Given the description of an element on the screen output the (x, y) to click on. 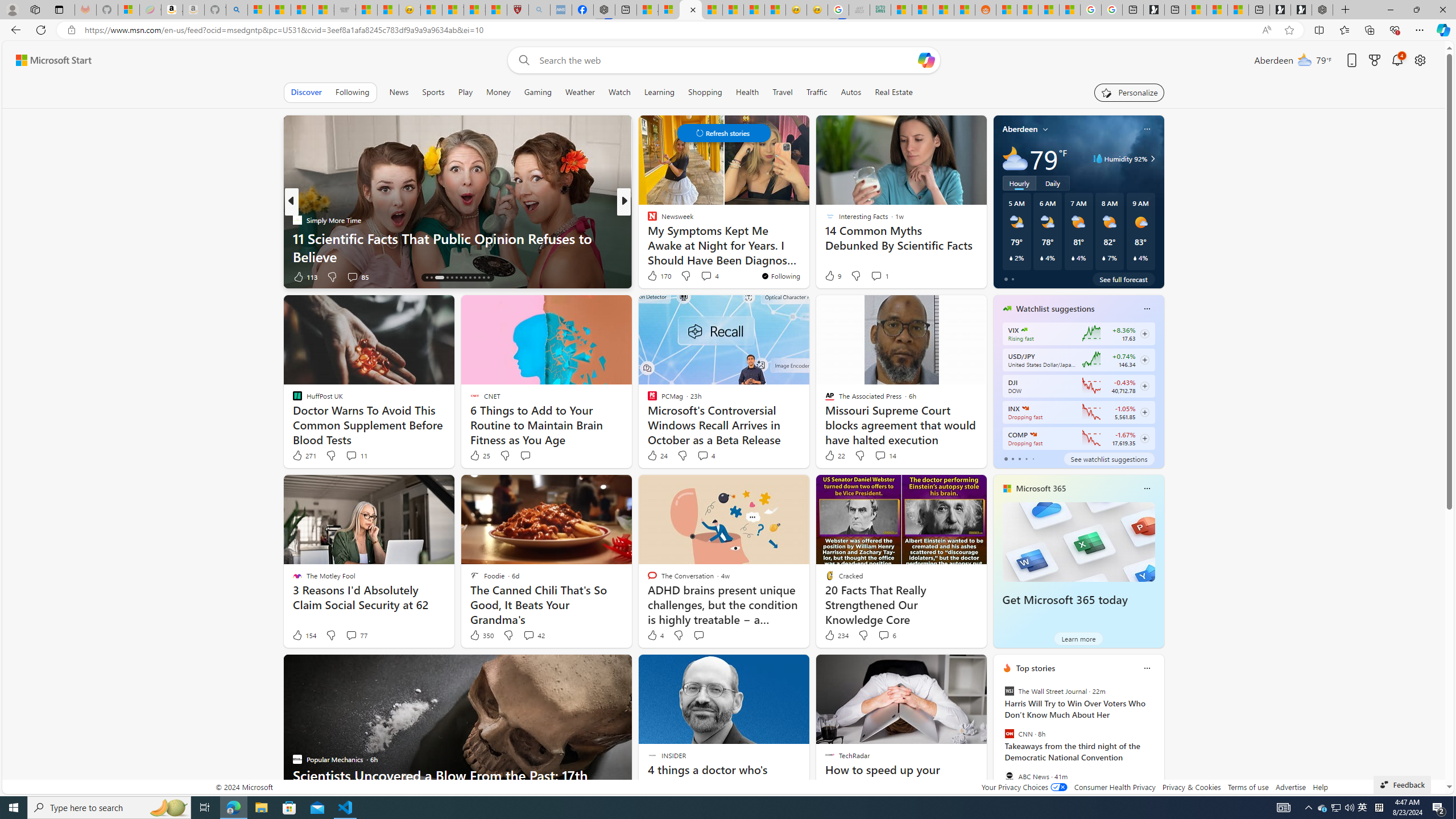
20 Ways To Embrace Aging Gracefully After Age 75 (807, 256)
Simply More Time (296, 219)
Learn more (1078, 638)
AutomationID: tab-21 (465, 277)
View comments 85 Comment (352, 276)
View comments 34 Comment (707, 276)
Pocket-lint (647, 238)
View comments 2 Comment (6, 276)
View comments 77 Comment (355, 634)
